Given the description of an element on the screen output the (x, y) to click on. 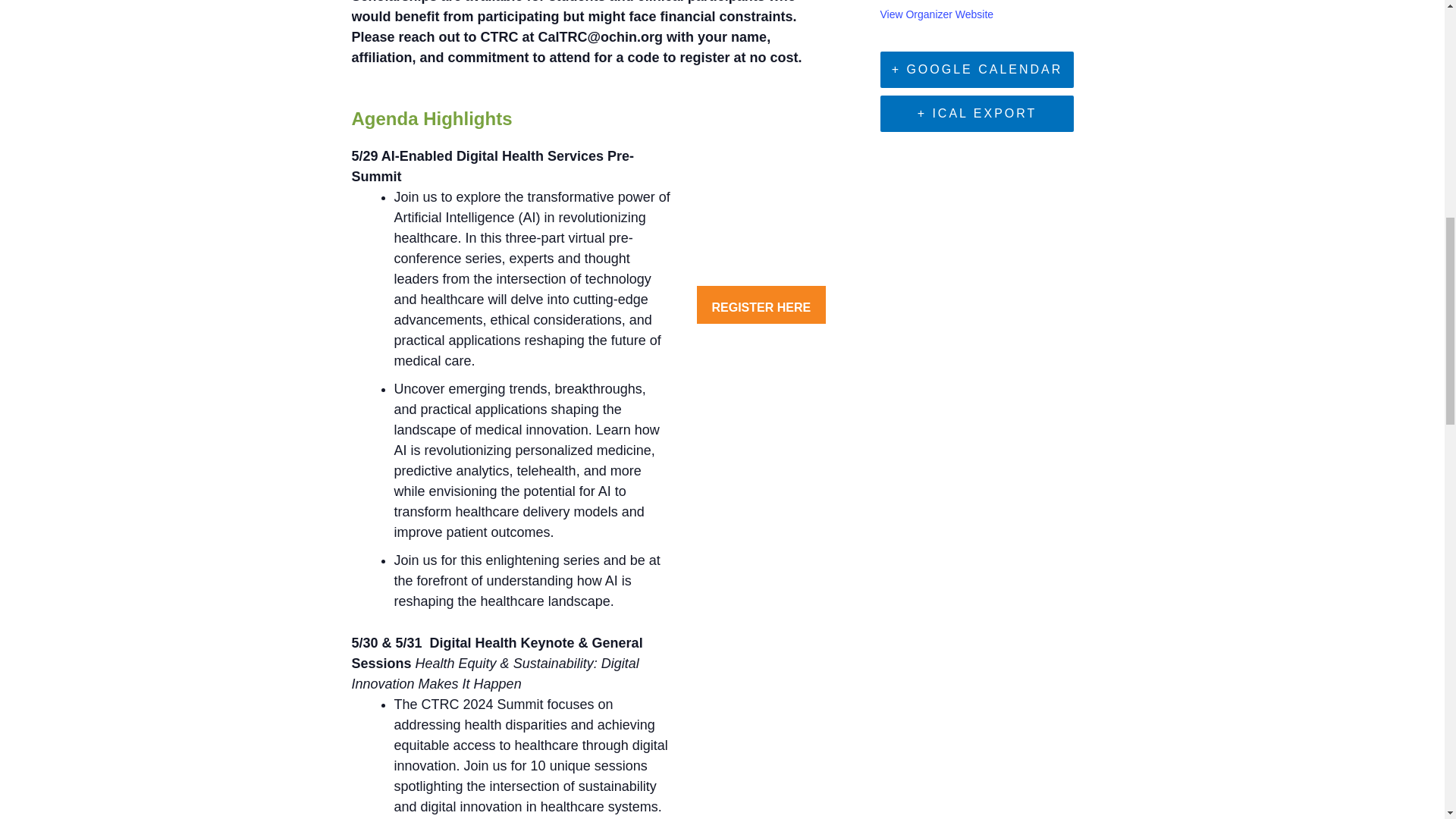
REGISTER HERE (761, 304)
Download .ics file (976, 113)
Add to Google Calendar (976, 69)
